Given the description of an element on the screen output the (x, y) to click on. 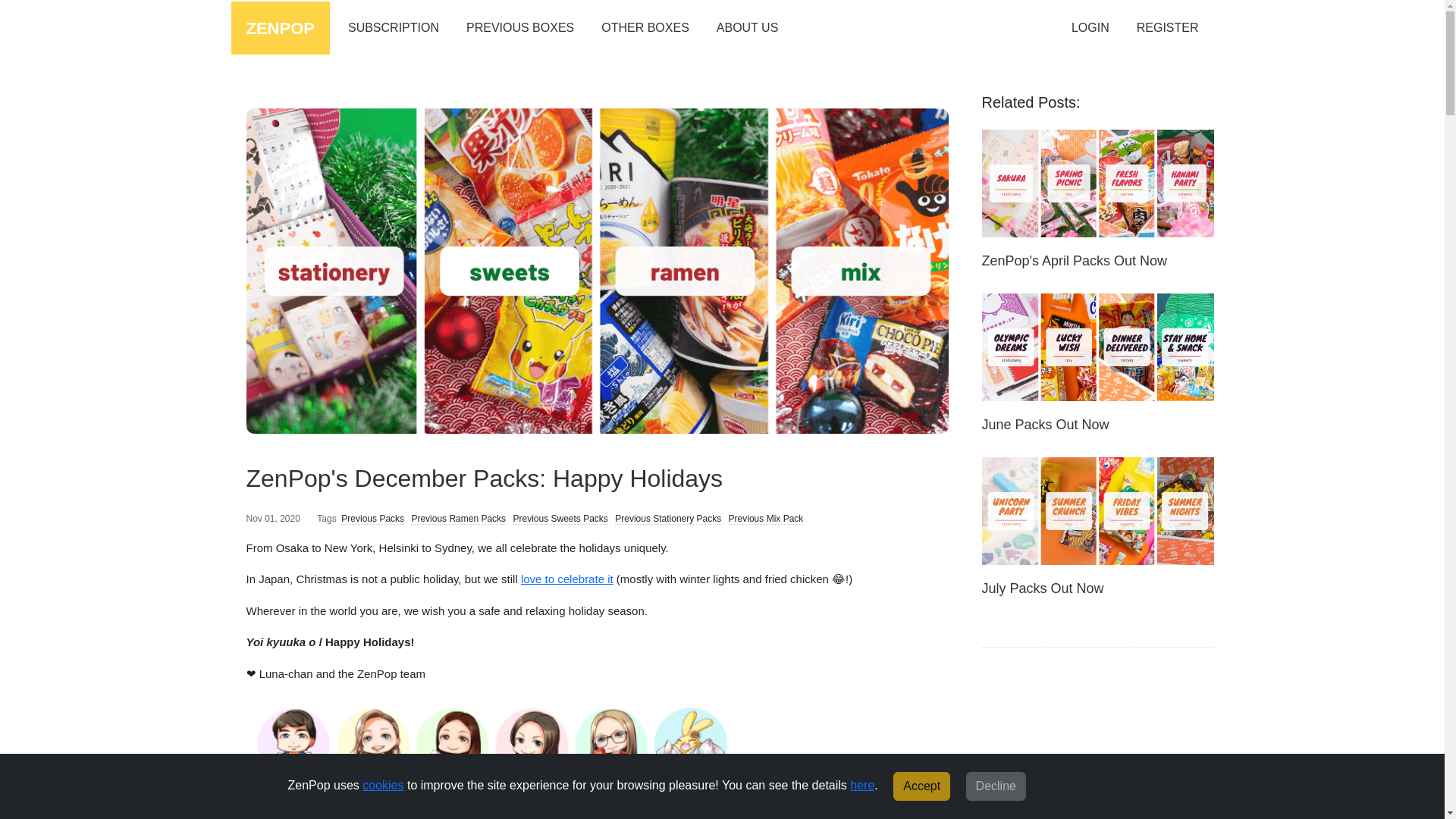
July Packs Out Now (1096, 509)
Previous Mix Pack (766, 518)
ZenPop's April Packs Out Now (1096, 182)
Previous Packs (372, 518)
Previous Sweets Packs (559, 518)
ZenPop's April Packs Out Now (1074, 260)
June Packs Out Now (1096, 345)
June Packs Out Now (1044, 424)
July Packs Out Now (1042, 588)
Previous Ramen Packs (457, 518)
SUBSCRIPTION (393, 28)
Meet the ZenPop Team...As Manga Characters! (491, 743)
REGISTER (1167, 28)
ZENPOP (279, 27)
OTHER BOXES (645, 28)
